Given the description of an element on the screen output the (x, y) to click on. 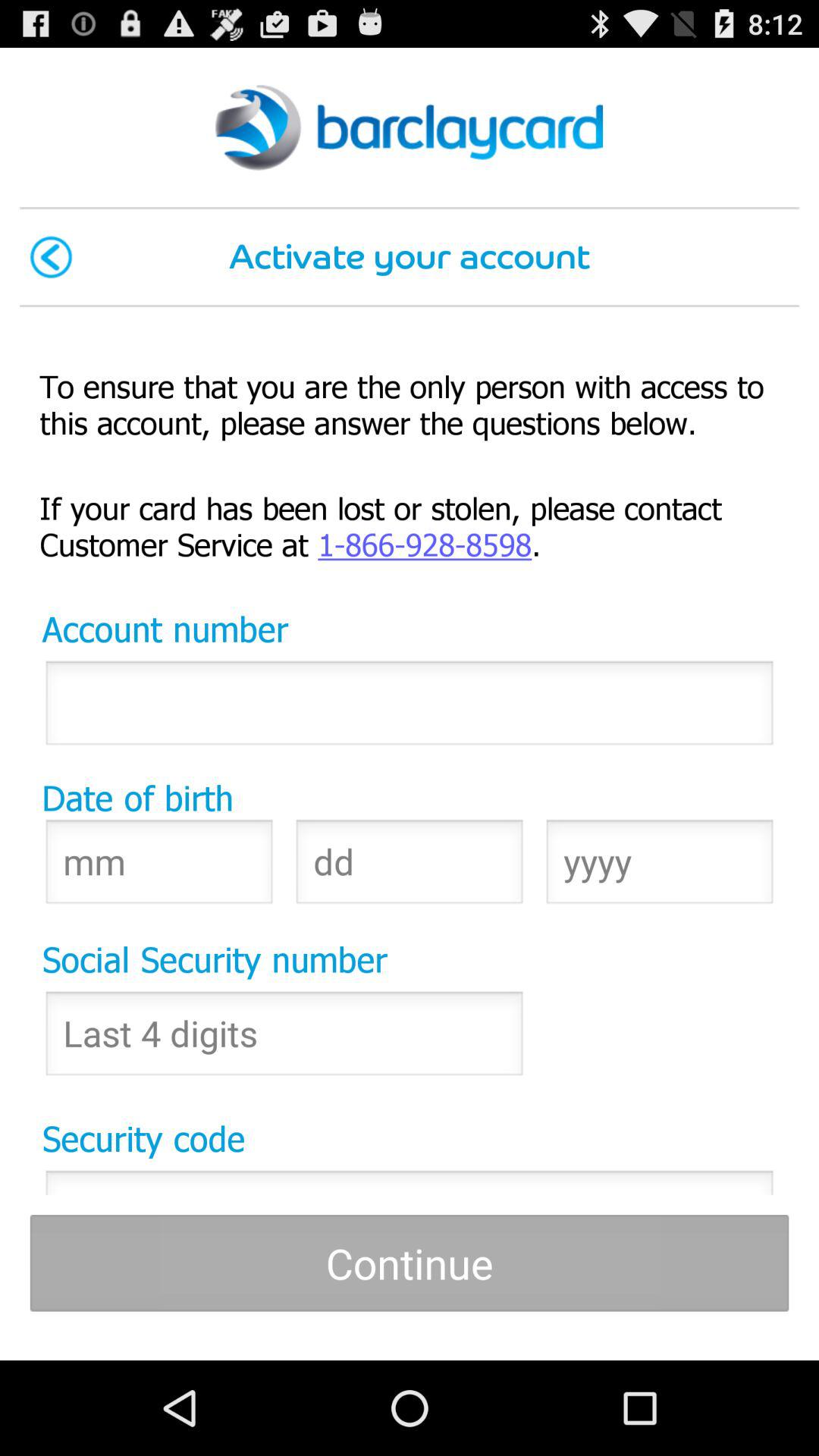
scroll to the continue button (409, 1262)
